Given the description of an element on the screen output the (x, y) to click on. 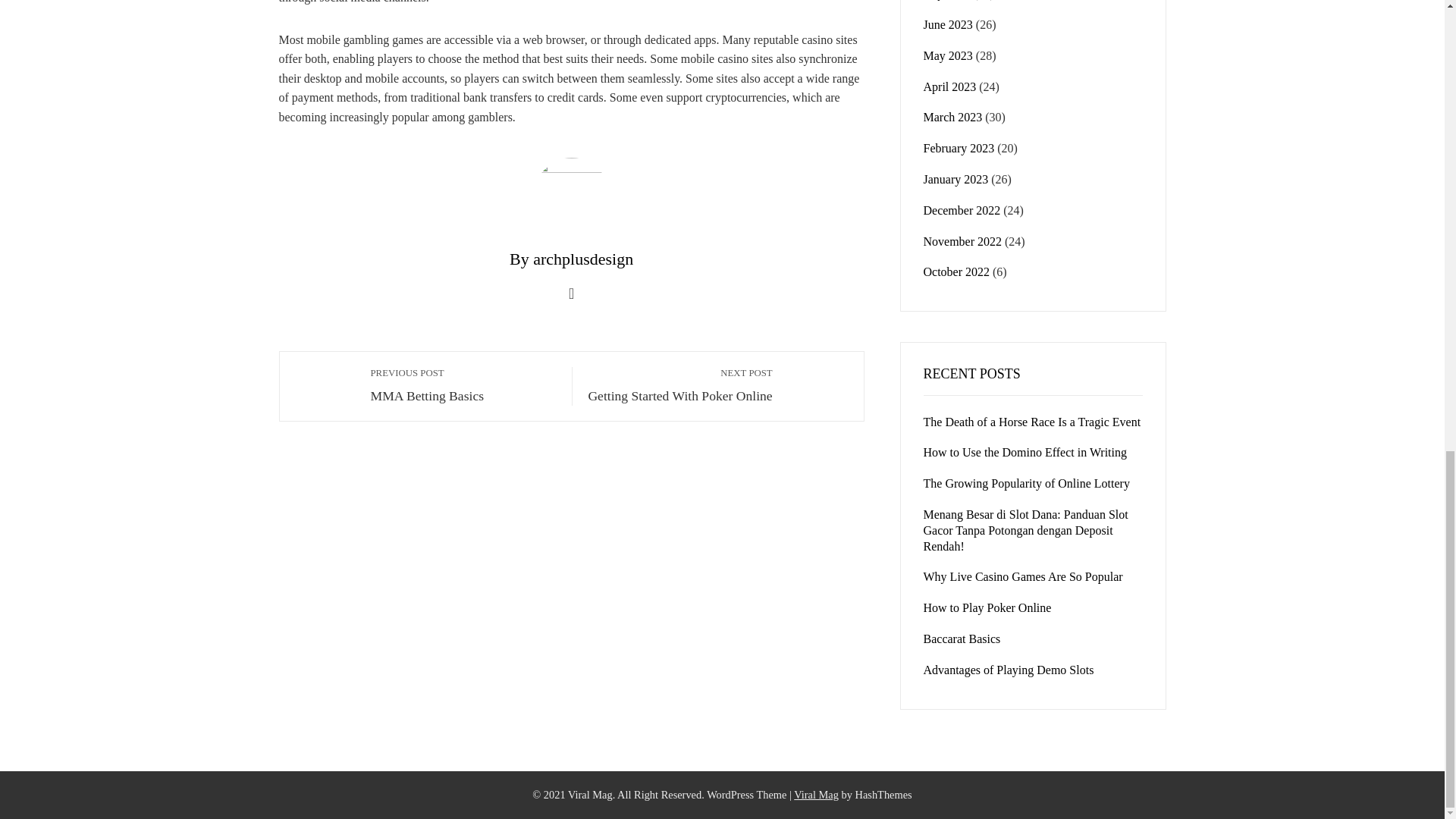
May 2023 (947, 55)
Download Viral News (815, 794)
March 2023 (952, 116)
April 2023 (680, 384)
June 2023 (949, 86)
